Given the description of an element on the screen output the (x, y) to click on. 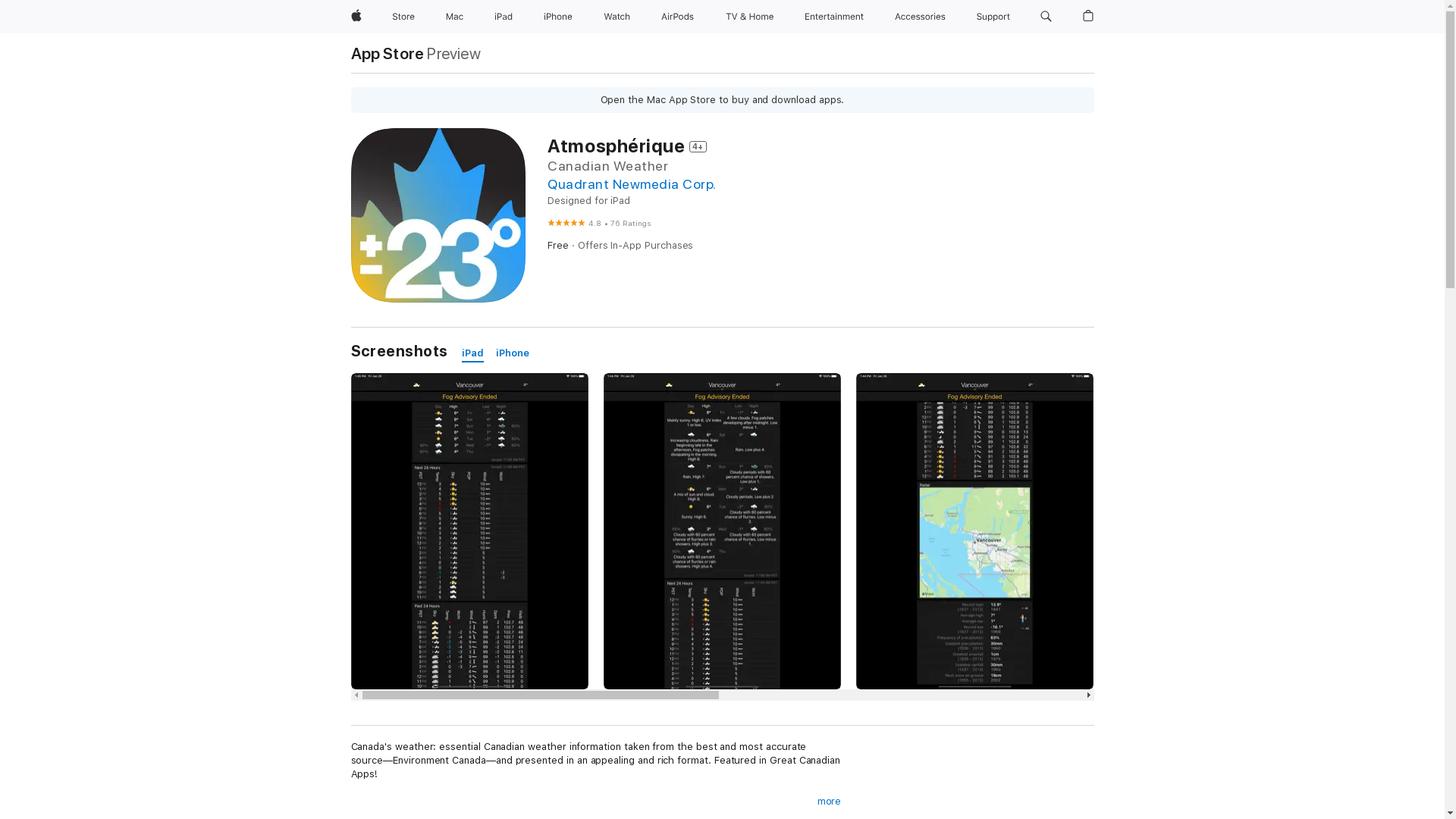
Entertainment Element type: text (834, 16)
iPhone Element type: text (557, 16)
iPad Element type: text (503, 16)
Accessories Element type: text (919, 16)
iPad Element type: text (472, 353)
TV & Home Element type: text (749, 16)
Support Element type: text (993, 16)
Apple Element type: text (355, 16)
App Store Element type: text (386, 53)
Mac Element type: text (454, 16)
Watch Element type: text (616, 16)
AirPods Element type: text (677, 16)
Store Element type: text (402, 16)
iPhone Element type: text (512, 353)
Quadrant Newmedia Corp. Element type: text (631, 183)
more Element type: text (829, 801)
